Given the description of an element on the screen output the (x, y) to click on. 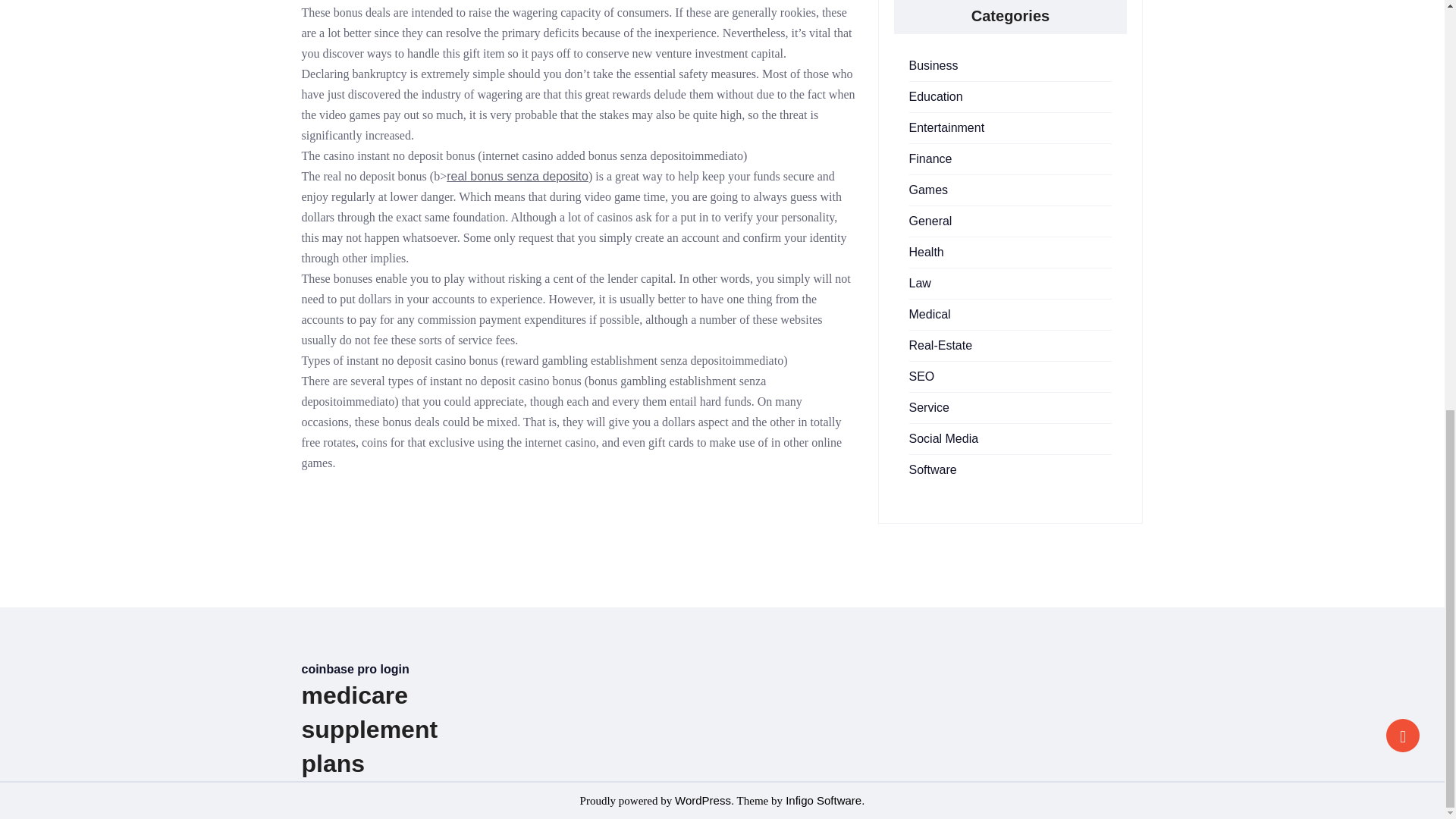
Law (919, 282)
General (930, 220)
coinbase pro login (355, 668)
Software (932, 469)
Social Media (943, 438)
medicare supplement plans (369, 729)
Health (925, 251)
Medical (929, 314)
Games (927, 189)
real bonus senza deposito (517, 175)
SEO (921, 376)
Real-Estate (940, 345)
Service (928, 407)
Entertainment (946, 127)
Business (933, 65)
